Given the description of an element on the screen output the (x, y) to click on. 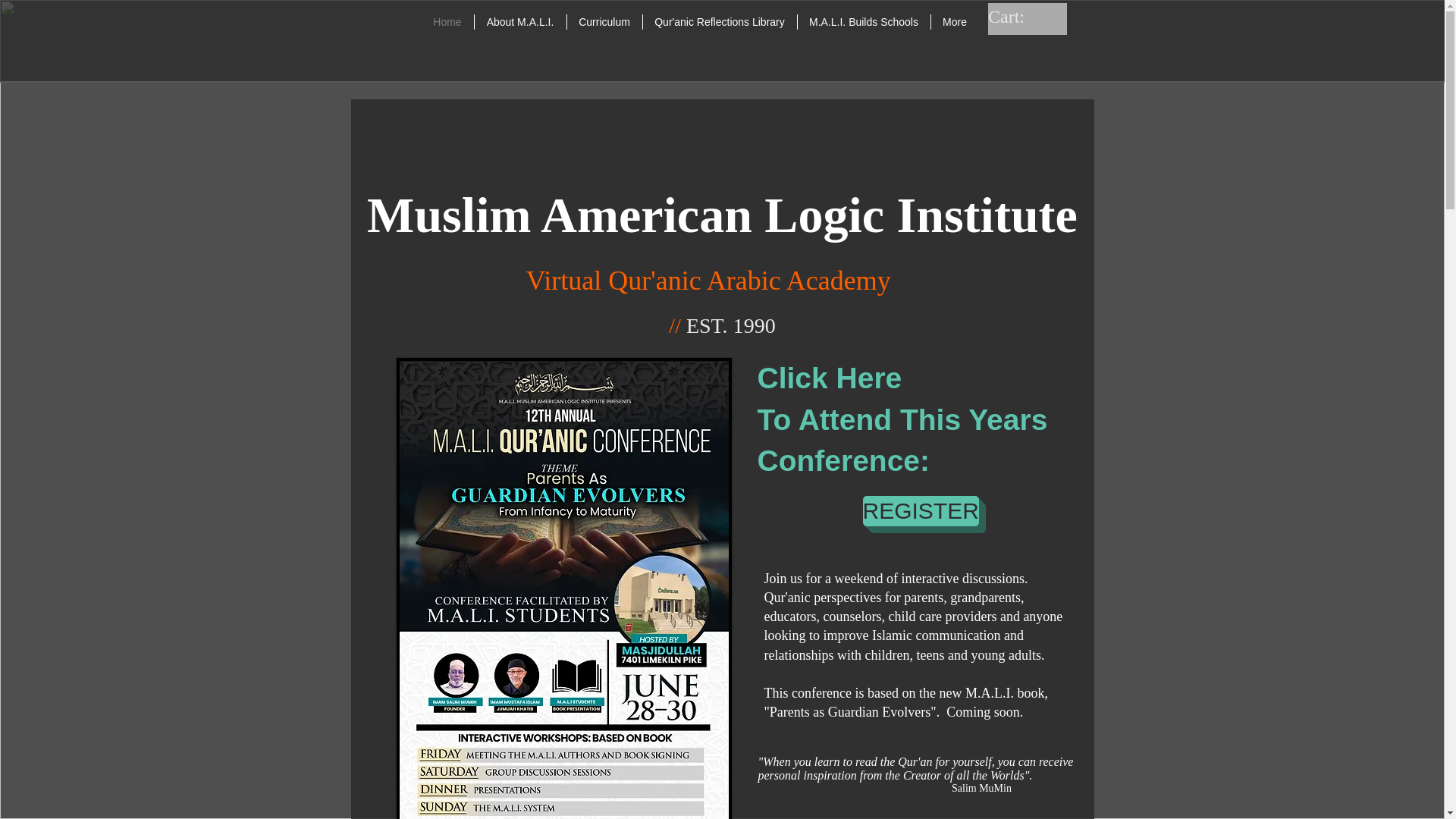
About M.A.L.I. (520, 21)
Home (448, 21)
Cart: (1020, 16)
Cart: (1020, 16)
Qur'anic Reflections Library (719, 21)
REGISTER (920, 511)
Curriculum (604, 21)
M.A.L.I. Builds Schools (863, 21)
